Given the description of an element on the screen output the (x, y) to click on. 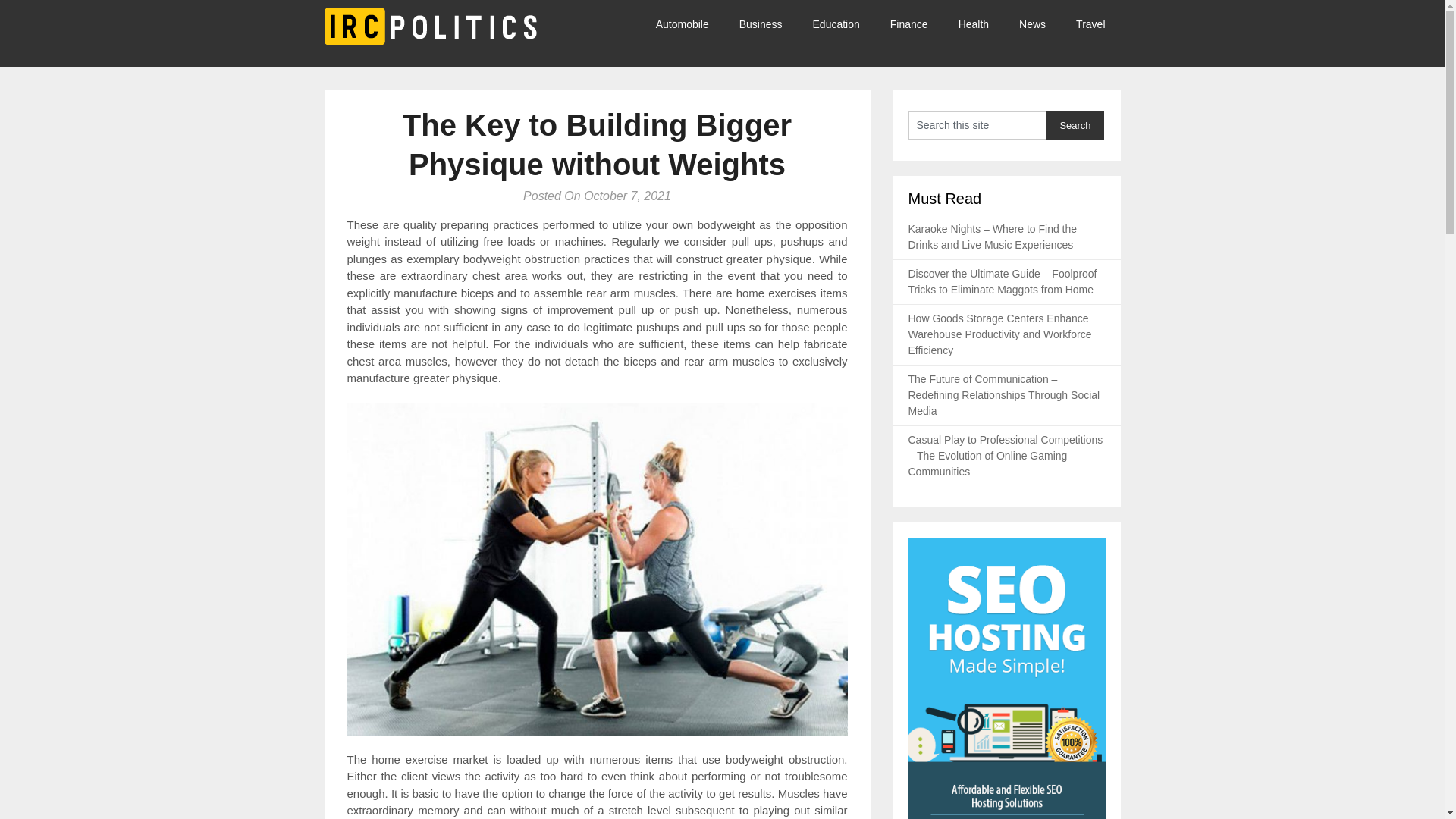
Travel (1090, 24)
News (1032, 24)
Finance (909, 24)
Business (760, 24)
Health (973, 24)
Search (1075, 125)
Automobile (689, 24)
Search (1075, 125)
Education (836, 24)
Search this site (977, 125)
